Given the description of an element on the screen output the (x, y) to click on. 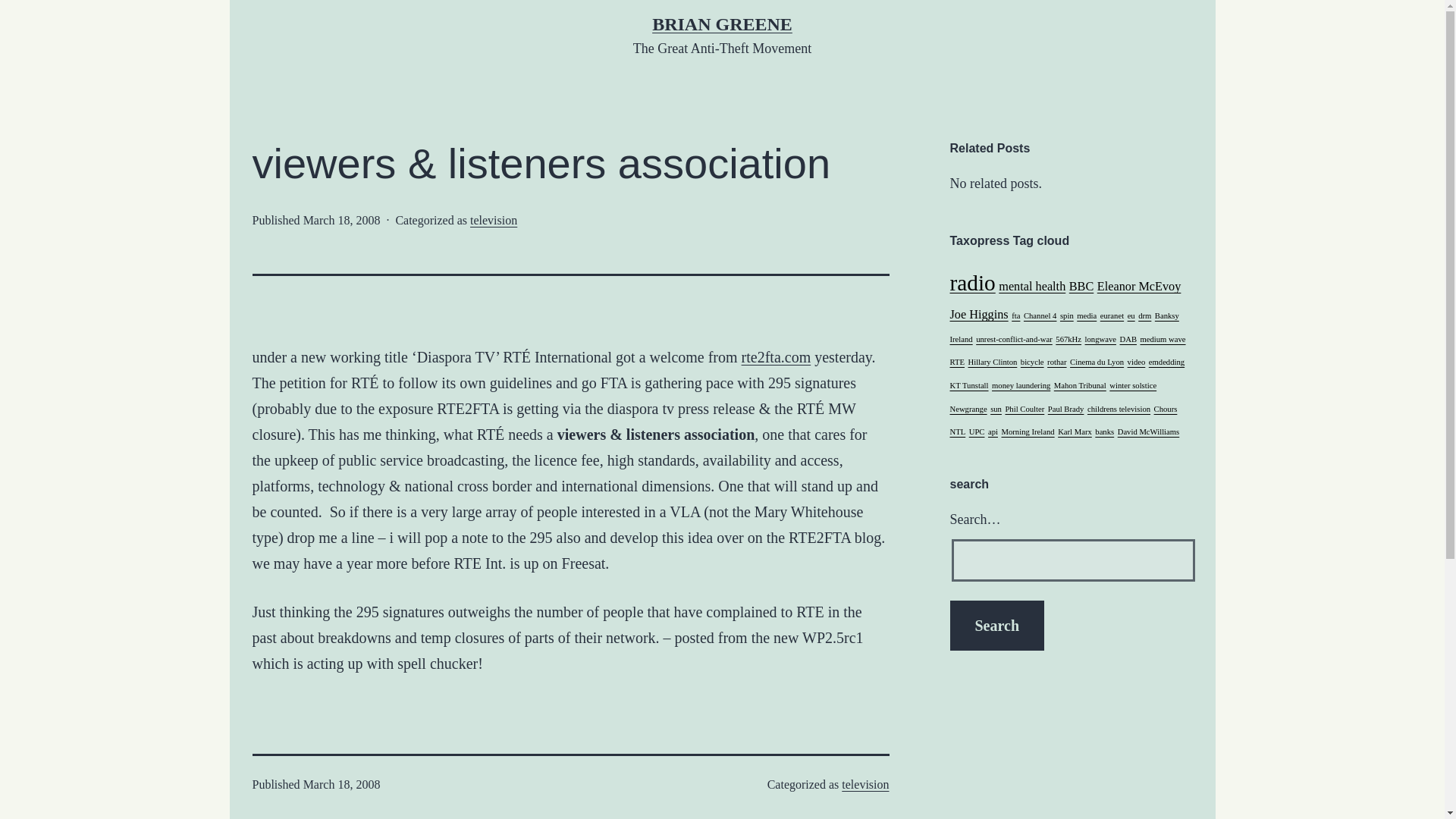
Search (996, 625)
1 topics (1100, 338)
567kHz (1068, 338)
fta (1015, 316)
longwave (1100, 338)
1 topics (1128, 338)
1 topics (1144, 316)
1 topics (1015, 316)
money laundering (1020, 385)
Phil Coulter (1023, 408)
RTE (956, 361)
Banksy (1166, 316)
spin (1066, 316)
radio (971, 282)
1 topics (1068, 338)
